Given the description of an element on the screen output the (x, y) to click on. 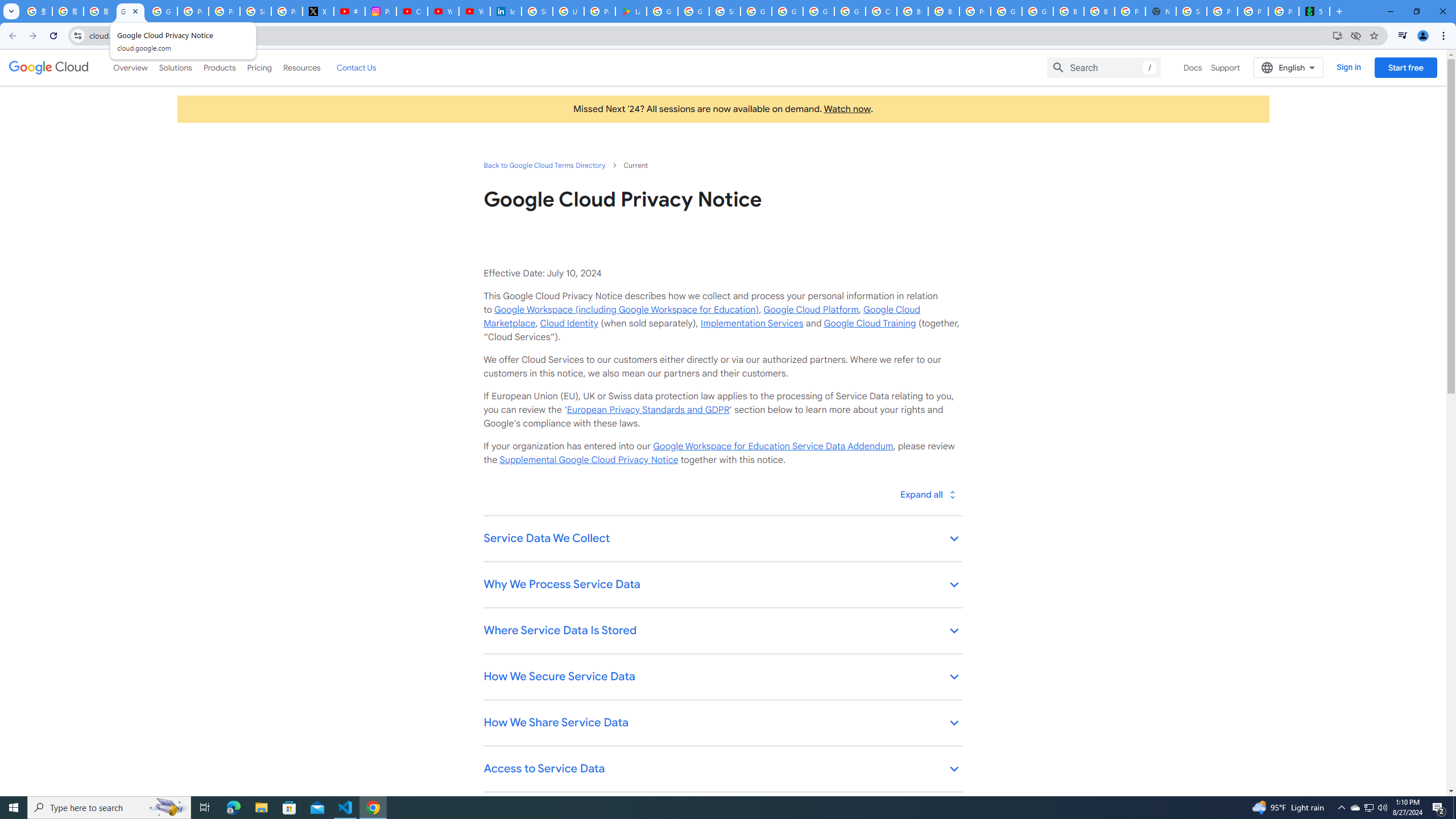
Where Service Data Is Stored keyboard_arrow_down (722, 631)
Google Workspace (including Google Workspace for Education) (625, 309)
Solutions (175, 67)
Service Data We Collect keyboard_arrow_down (722, 539)
European Privacy Standards and GDPR (647, 410)
Sign in - Google Accounts (255, 11)
Last Shelter: Survival - Apps on Google Play (631, 11)
Access to Service Data keyboard_arrow_down (722, 769)
Back to Google Cloud Terms Directory (544, 165)
